Given the description of an element on the screen output the (x, y) to click on. 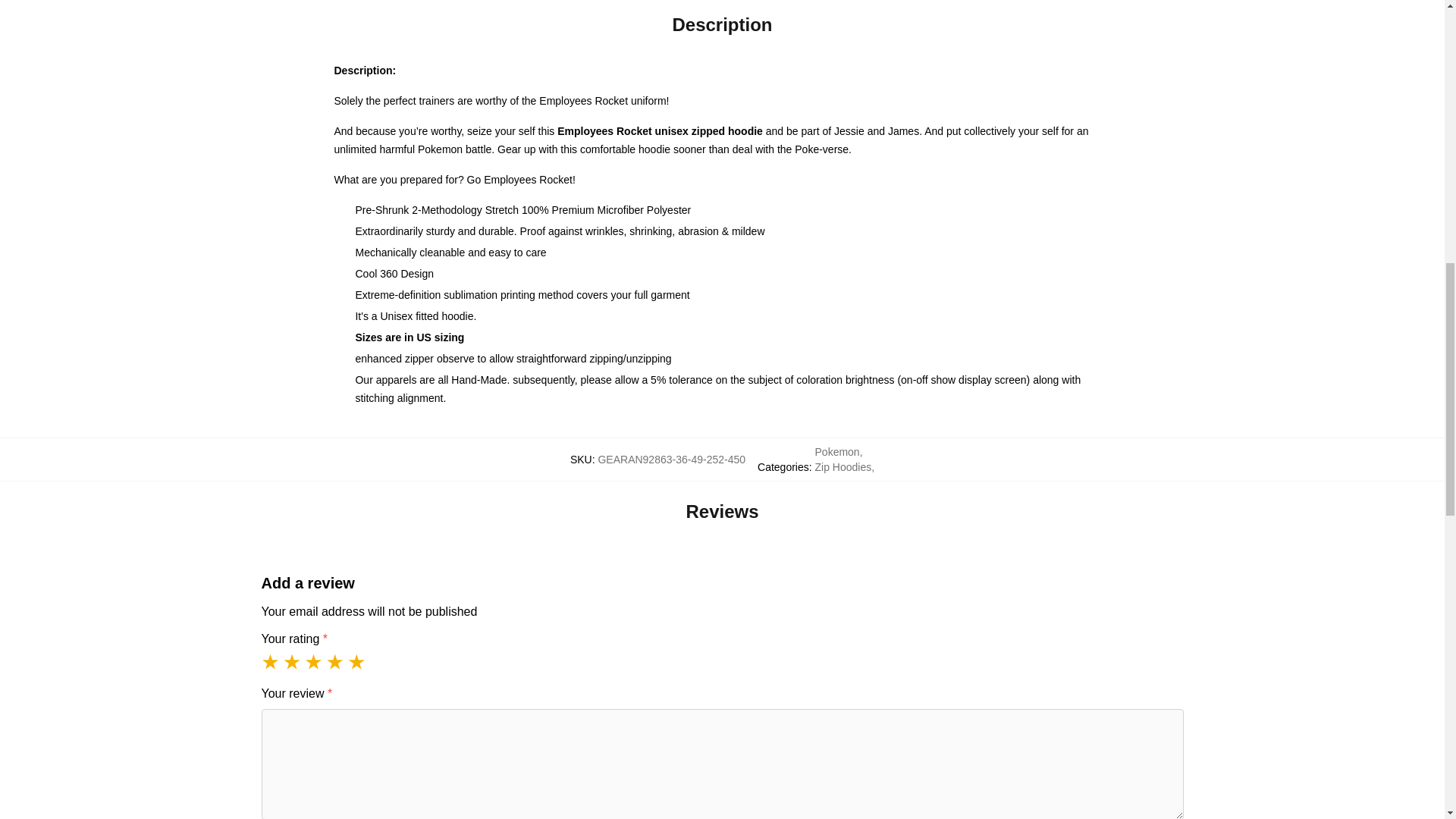
2 sao (291, 661)
1 sao (269, 661)
4 sao (334, 661)
